Given the description of an element on the screen output the (x, y) to click on. 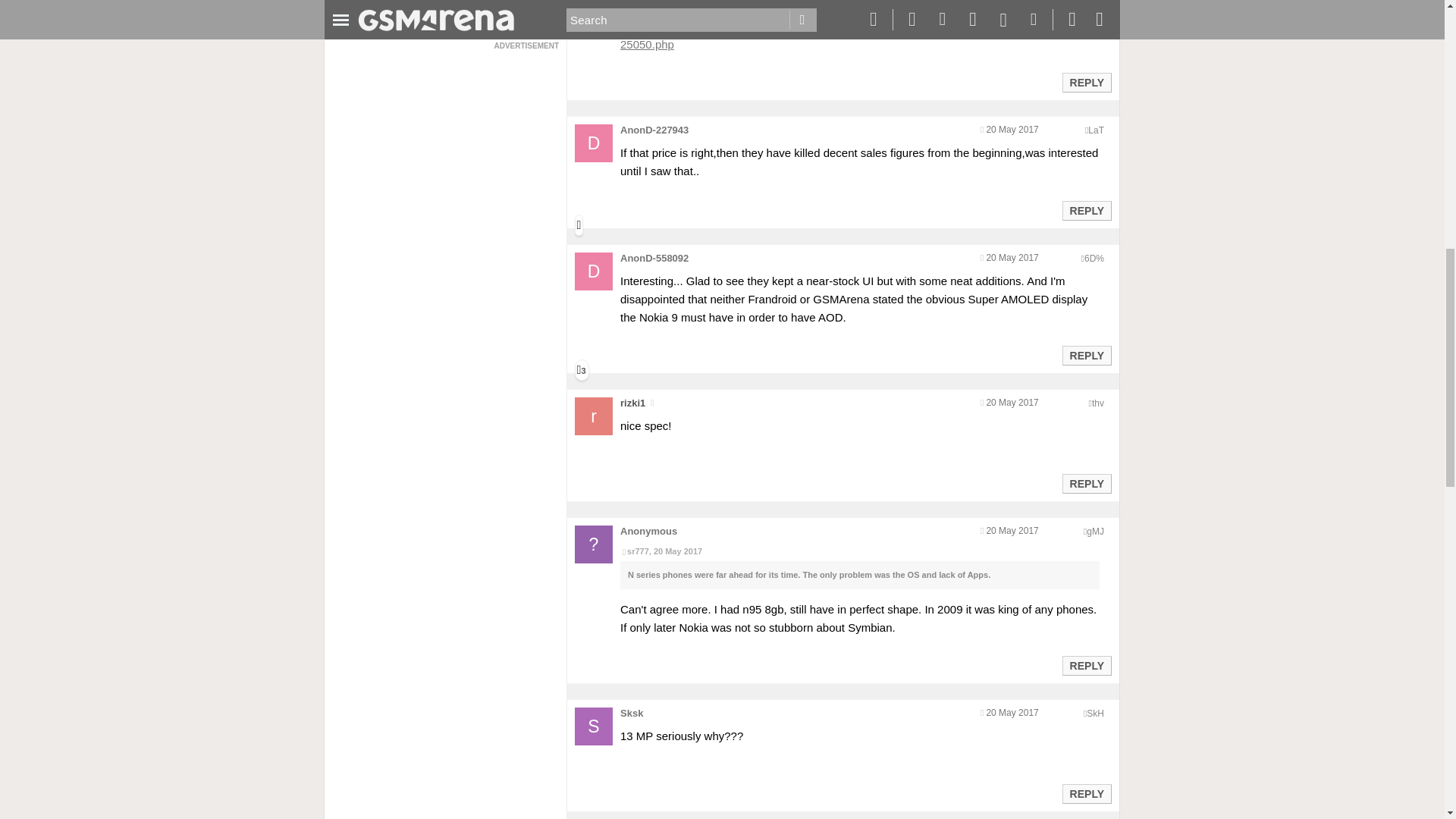
Reply to this post (1086, 82)
Encoded anonymized location (1093, 258)
Encoded anonymized location (1094, 713)
Reply to this post (1086, 665)
Encoded anonymized location (1097, 403)
Encoded anonymized location (1095, 130)
Reply to this post (1086, 483)
Reply to this post (1086, 355)
Reply to this post (1086, 210)
Encoded anonymized location (1094, 531)
Reply to this post (1086, 793)
